Given the description of an element on the screen output the (x, y) to click on. 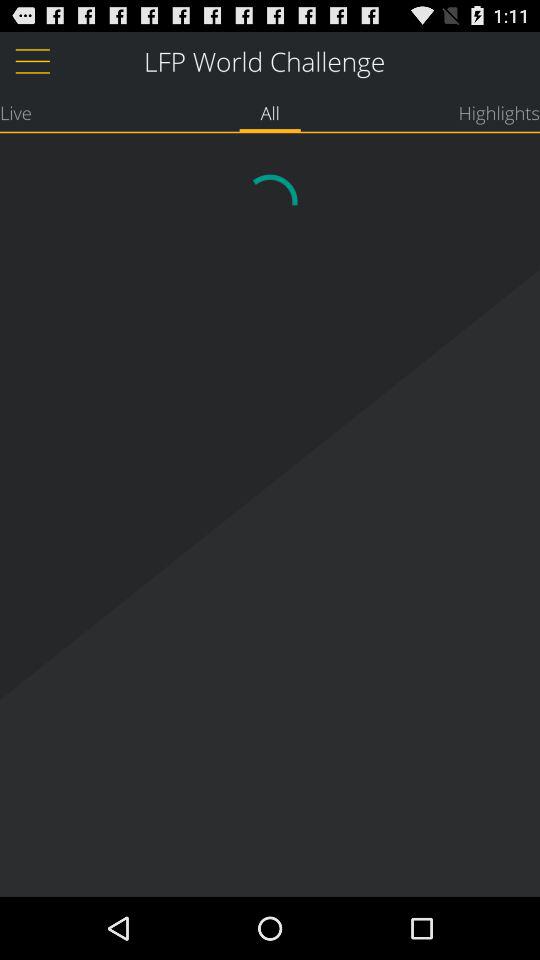
swipe to live icon (15, 112)
